Given the description of an element on the screen output the (x, y) to click on. 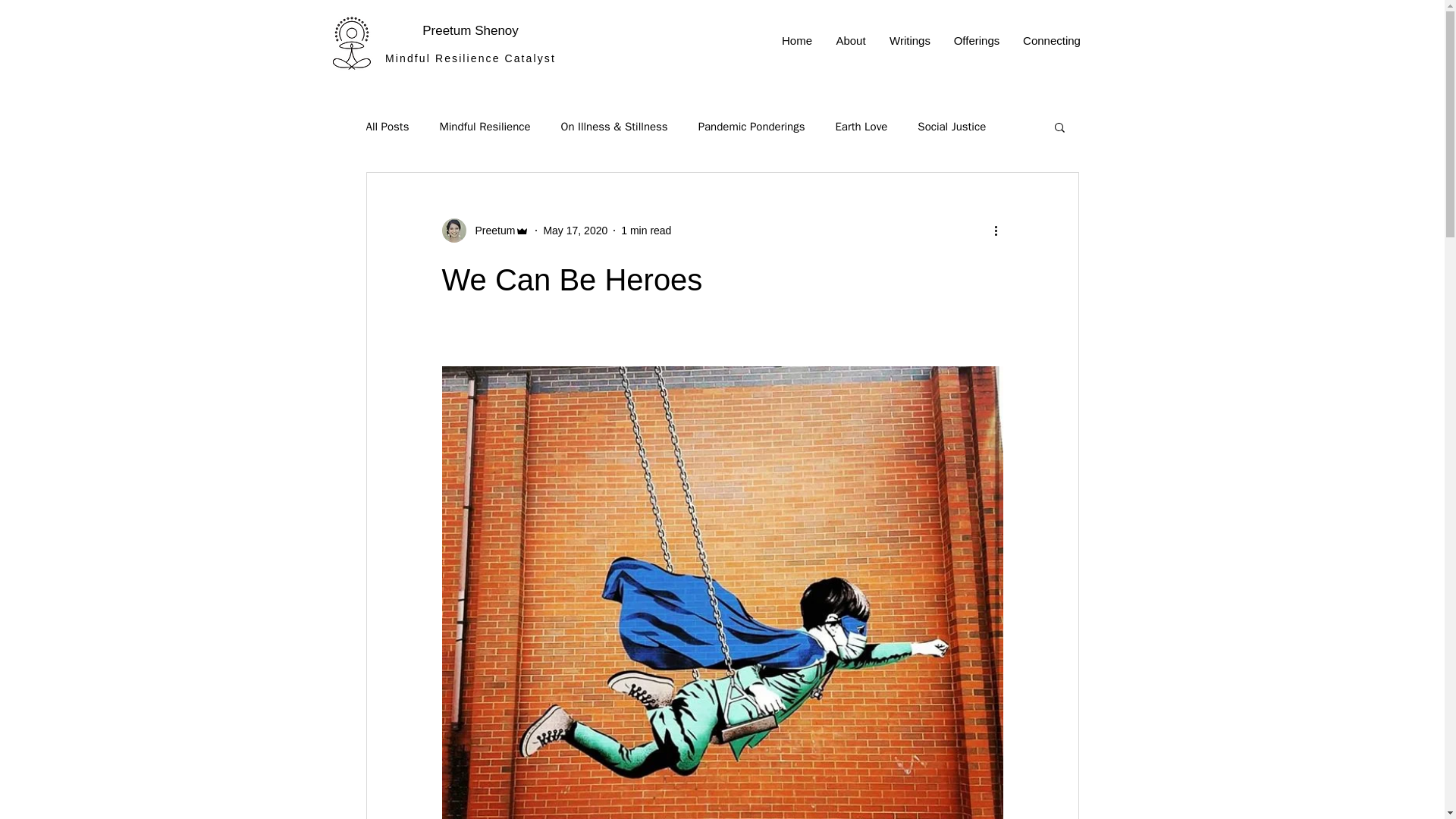
1 min read (646, 230)
About (850, 40)
Mindful Resilience Catalyst (470, 58)
Earth Love (860, 126)
All Posts (387, 126)
May 17, 2020 (575, 230)
Preetum Shenoy (470, 30)
Mindful Resilience (484, 126)
Connecting (1052, 40)
Writings (909, 40)
